Given the description of an element on the screen output the (x, y) to click on. 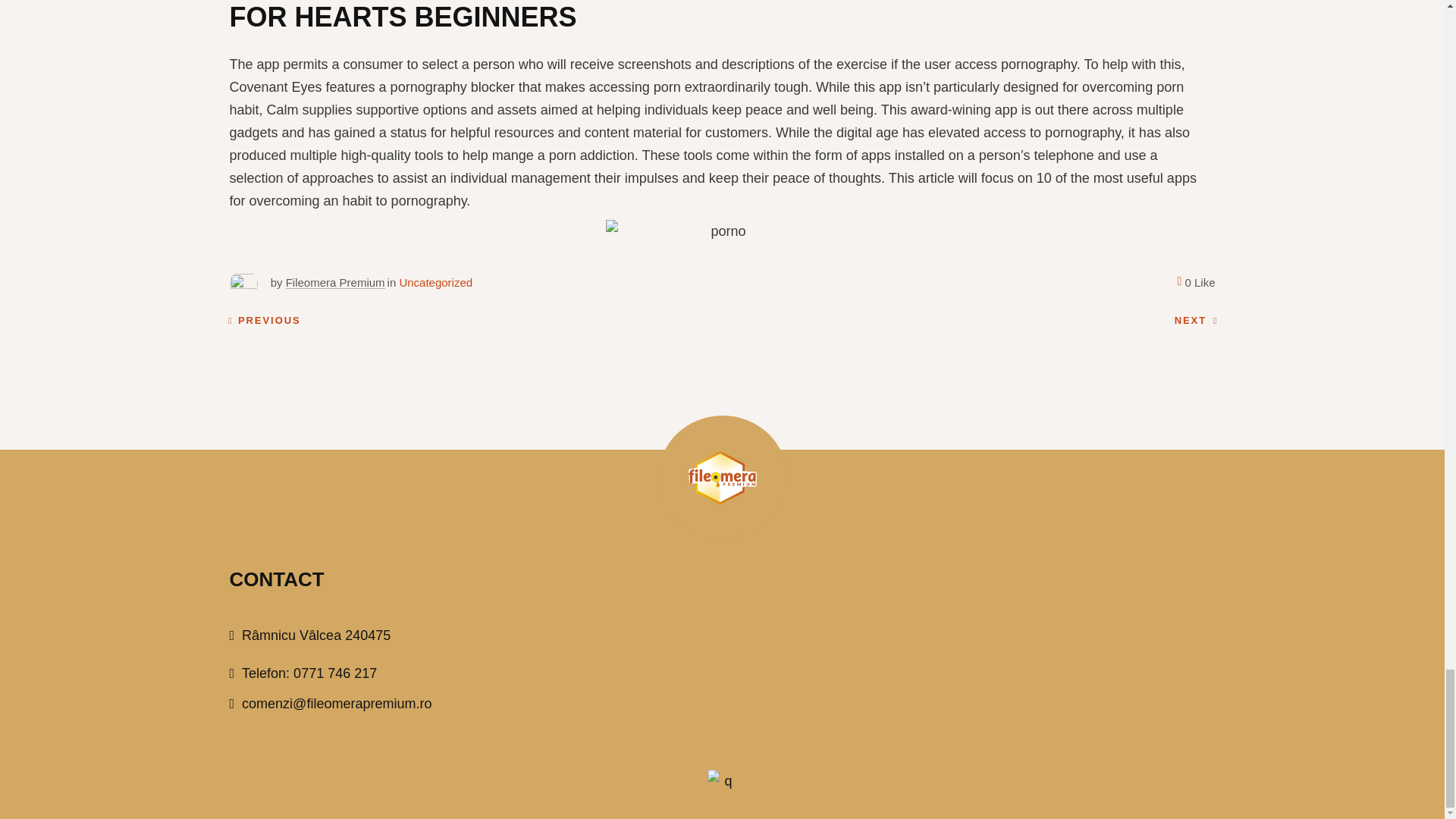
Telefon: 0771 746 217 (302, 673)
Fileomera Premium (335, 282)
Uncategorized (434, 282)
0 Like (1195, 282)
Like this (1195, 282)
PREVIOUS (263, 320)
NEXT (1195, 320)
